Given the description of an element on the screen output the (x, y) to click on. 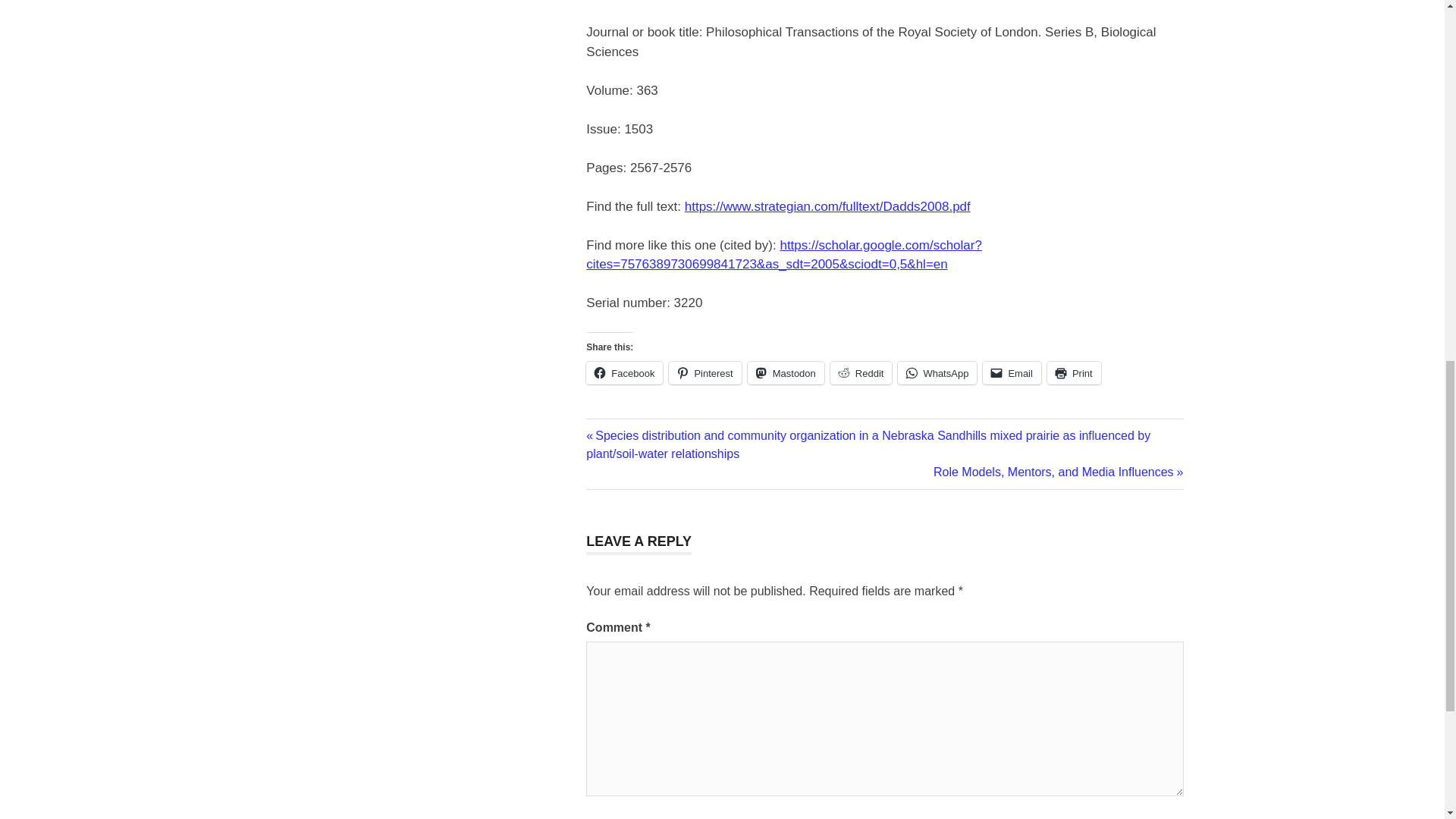
Facebook (624, 372)
Reddit (860, 372)
Click to email a link to a friend (1011, 372)
Click to share on WhatsApp (937, 372)
Email (1011, 372)
WhatsApp (937, 372)
Click to print (1073, 372)
Click to share on Reddit (860, 372)
Pinterest (704, 372)
Click to share on Mastodon (786, 372)
